Given the description of an element on the screen output the (x, y) to click on. 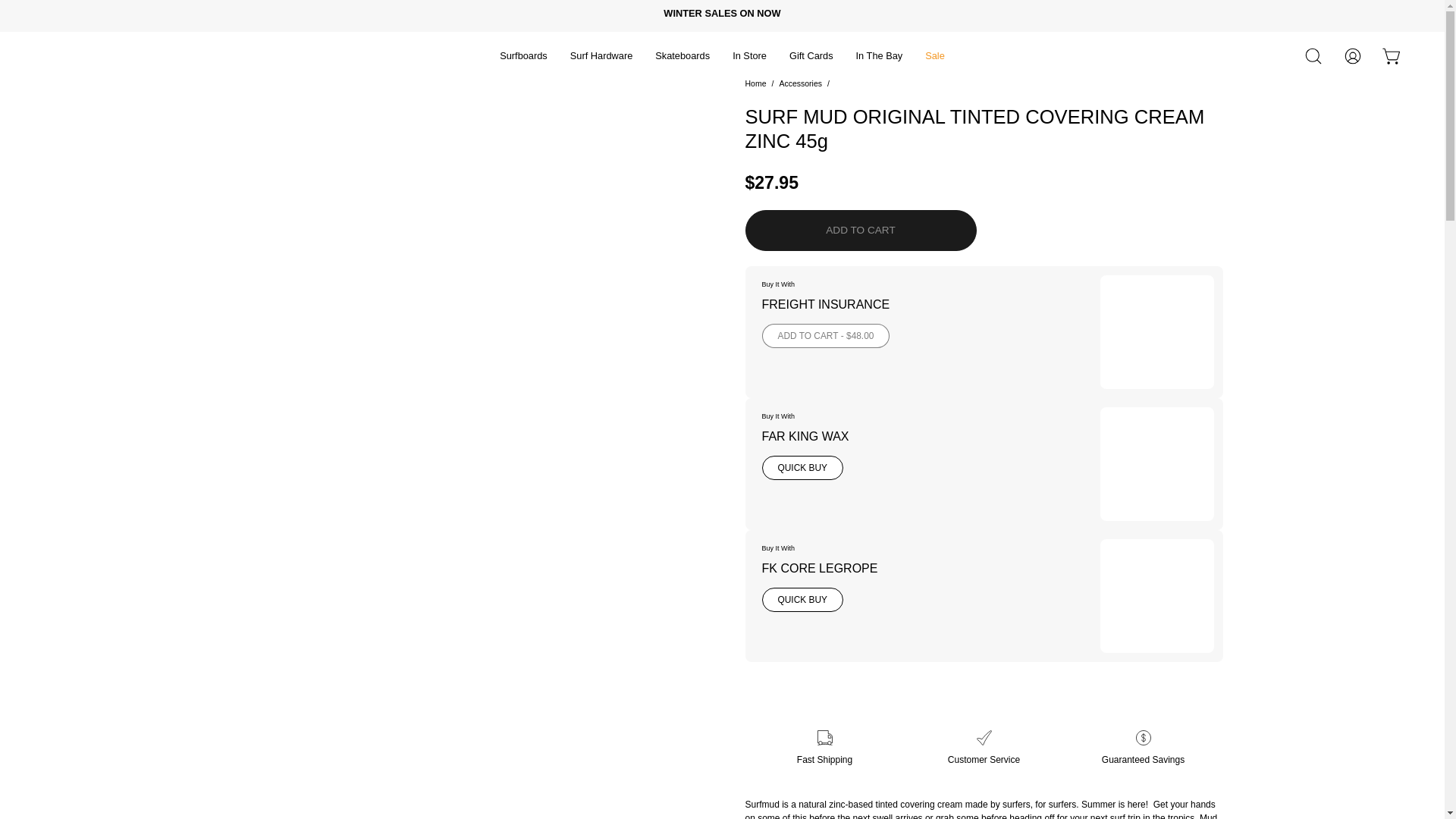
Go back to Home page (754, 82)
